Given the description of an element on the screen output the (x, y) to click on. 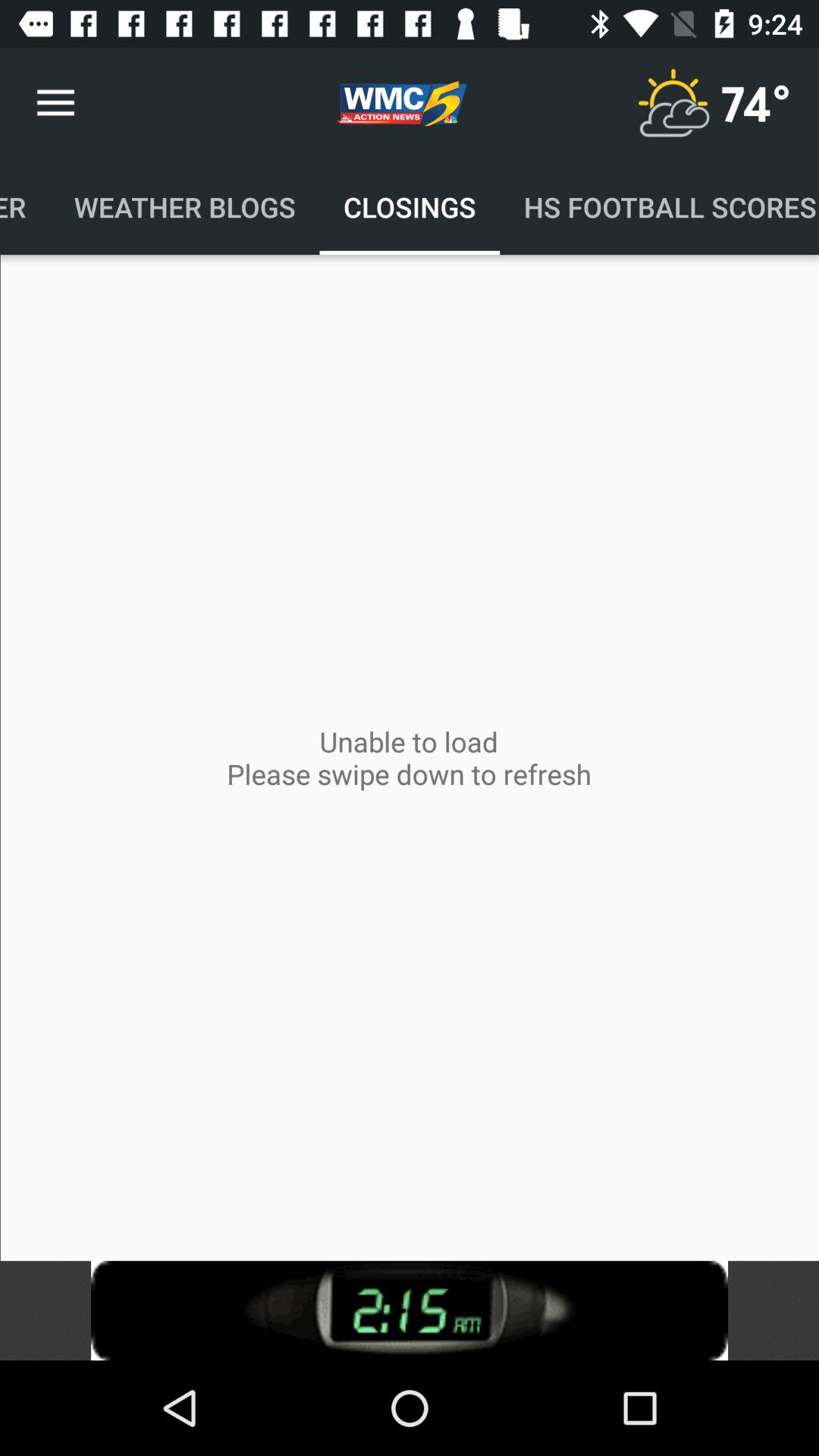
weather (673, 103)
